Given the description of an element on the screen output the (x, y) to click on. 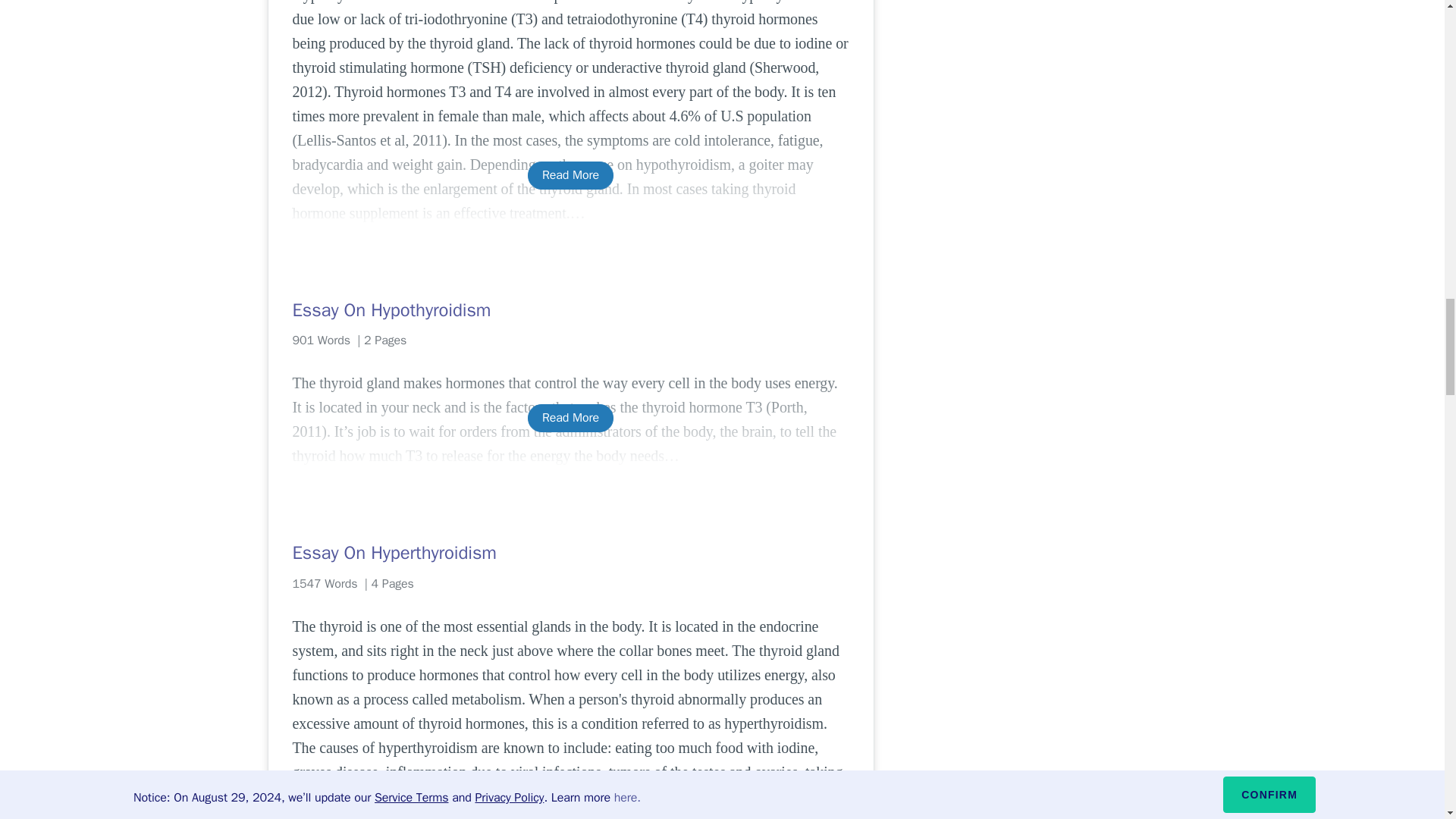
Read More (569, 175)
Essay On Hypothyroidism (570, 310)
Essay On Hyperthyroidism (570, 552)
Read More (569, 418)
